Given the description of an element on the screen output the (x, y) to click on. 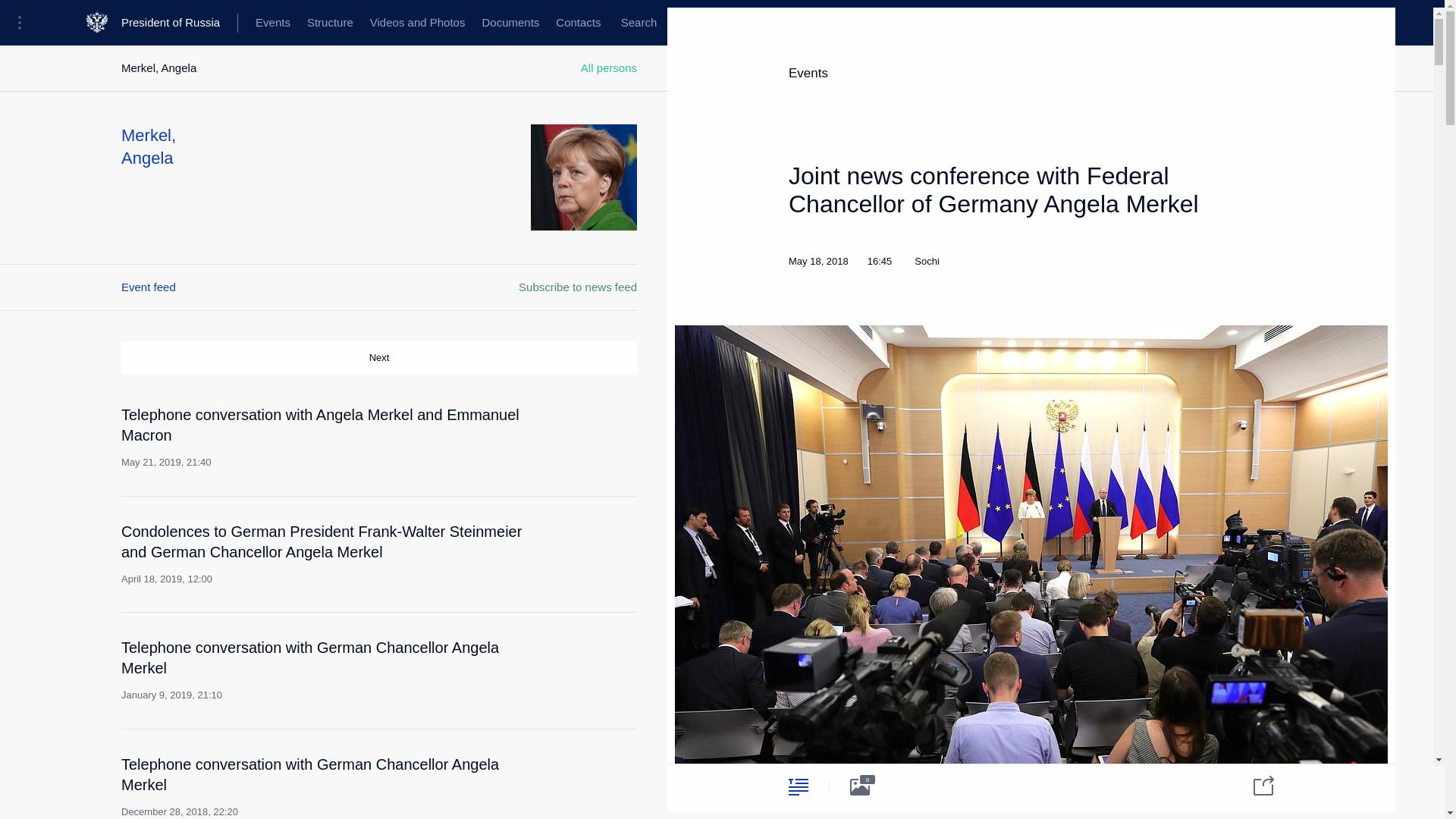
Documents (510, 22)
Videos and Photos (417, 22)
President of Russia (179, 22)
Event feed (148, 287)
Contacts (577, 22)
Next (378, 357)
Text (798, 786)
Portal Menu (24, 22)
Search (638, 22)
Structure (329, 22)
Share (1253, 784)
Photo (859, 786)
